Given the description of an element on the screen output the (x, y) to click on. 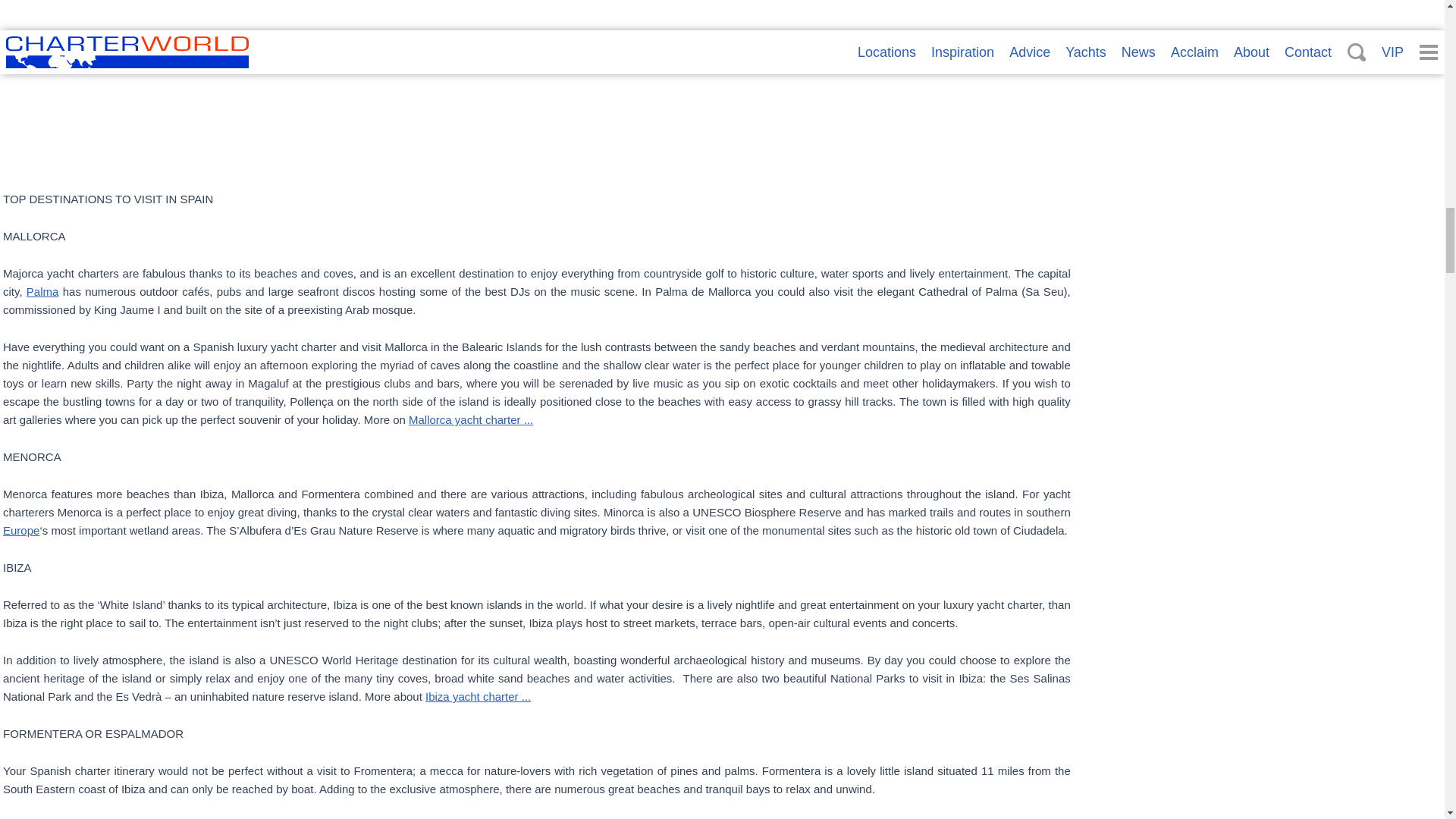
Palma (42, 291)
Mallorca yacht charter ... (470, 419)
Europe (20, 530)
Ibiza yacht charter ... (478, 696)
